Given the description of an element on the screen output the (x, y) to click on. 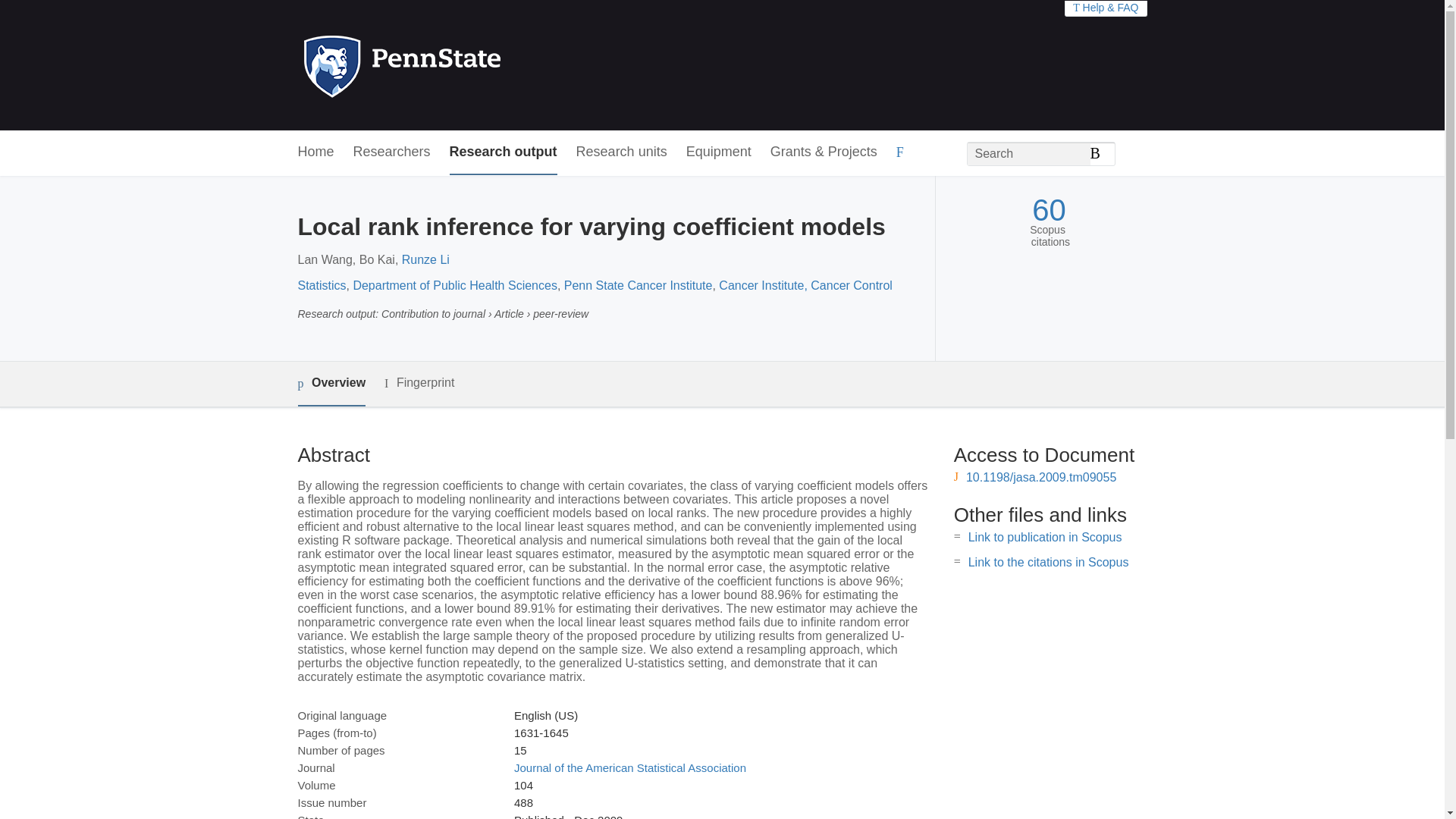
Link to publication in Scopus (1045, 536)
Runze Li (425, 259)
60 (1048, 210)
Link to the citations in Scopus (1048, 562)
Cancer Institute, Cancer Control (805, 285)
Penn State Cancer Institute (638, 285)
Equipment (718, 152)
Fingerprint (419, 382)
Penn State Home (467, 65)
Department of Public Health Sciences (454, 285)
Research units (621, 152)
Overview (331, 383)
Journal of the American Statistical Association (629, 767)
Research output (503, 152)
